Given the description of an element on the screen output the (x, y) to click on. 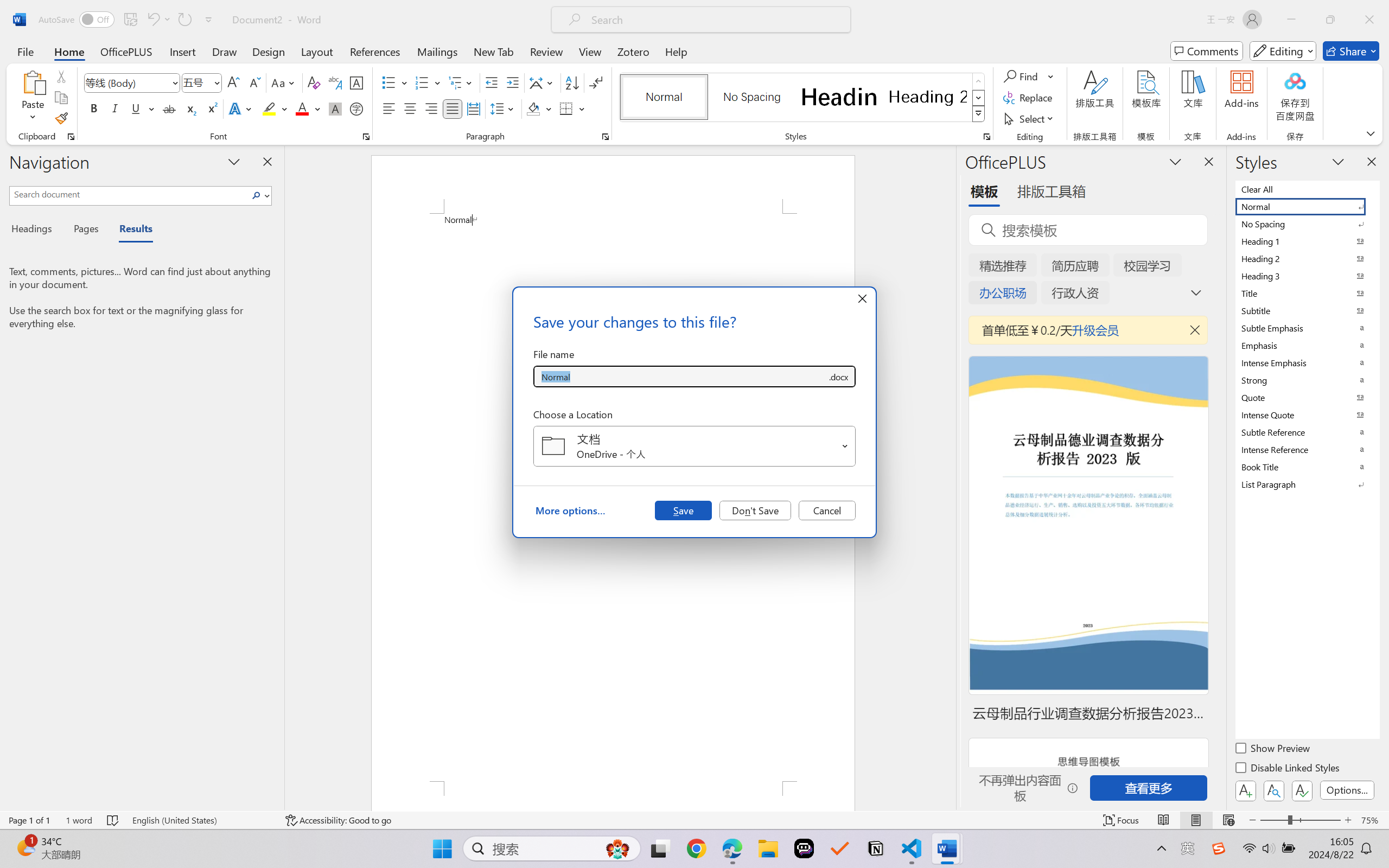
Decrease Indent (491, 82)
File Tab (24, 51)
Show Preview (1273, 749)
Text Highlight Color (274, 108)
Google Chrome (696, 848)
Spelling and Grammar Check No Errors (113, 819)
Select (1030, 118)
Help (675, 51)
Subtitle (1306, 310)
Customize Quick Access Toolbar (208, 19)
